Given the description of an element on the screen output the (x, y) to click on. 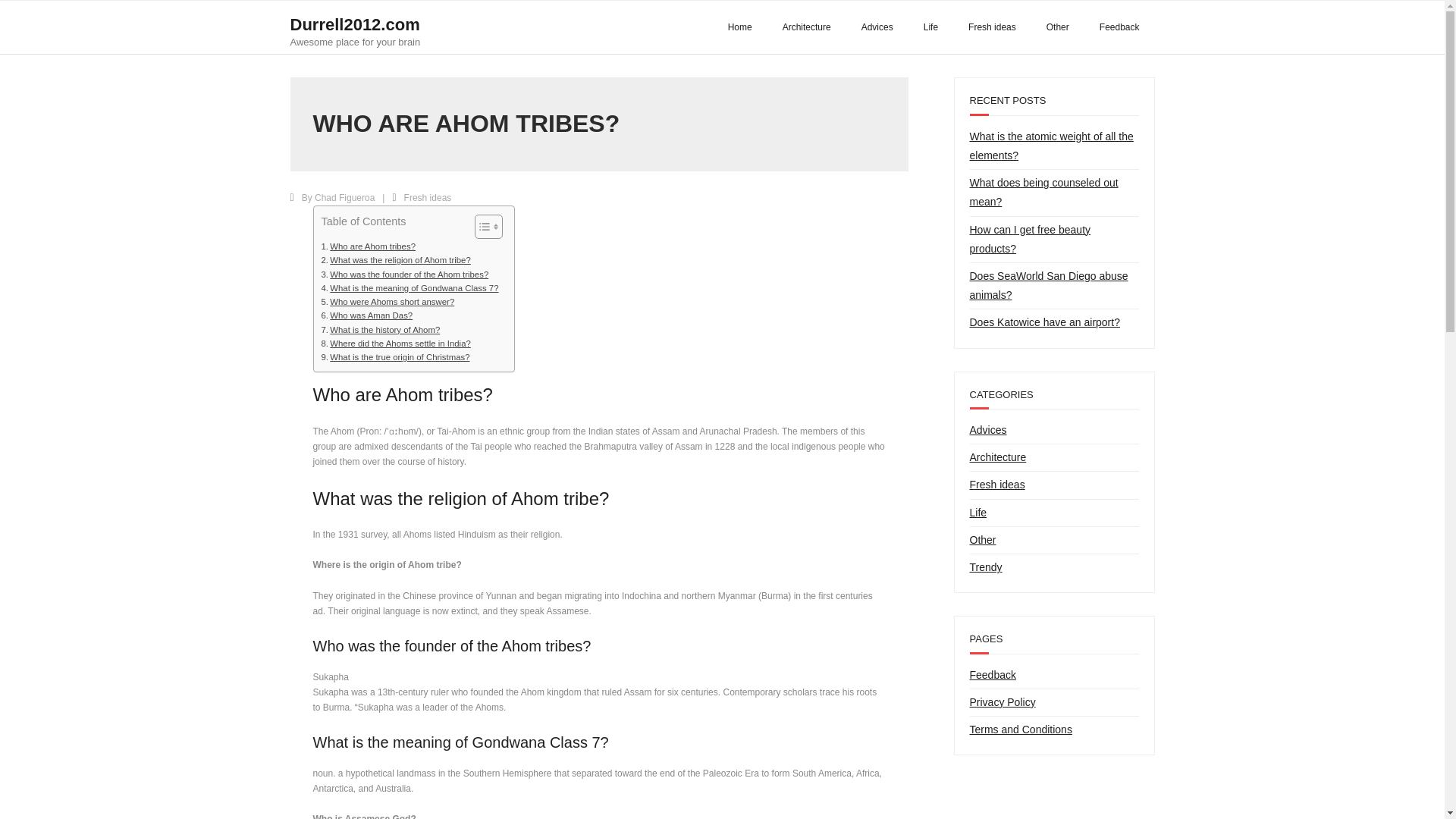
Awesome place for your brain (354, 41)
Who was Aman Das? (367, 315)
What is the true origin of Christmas? (395, 356)
Who are Ahom tribes? (33, 14)
Who were Ahoms short answer? (387, 301)
Who was the founder of the Ahom tribes? (405, 274)
Who are Ahom tribes? (367, 246)
View all posts by Chad Figueroa (344, 197)
What is the meaning of Gondwana Class 7? (410, 287)
Fresh ideas (991, 27)
